Given the description of an element on the screen output the (x, y) to click on. 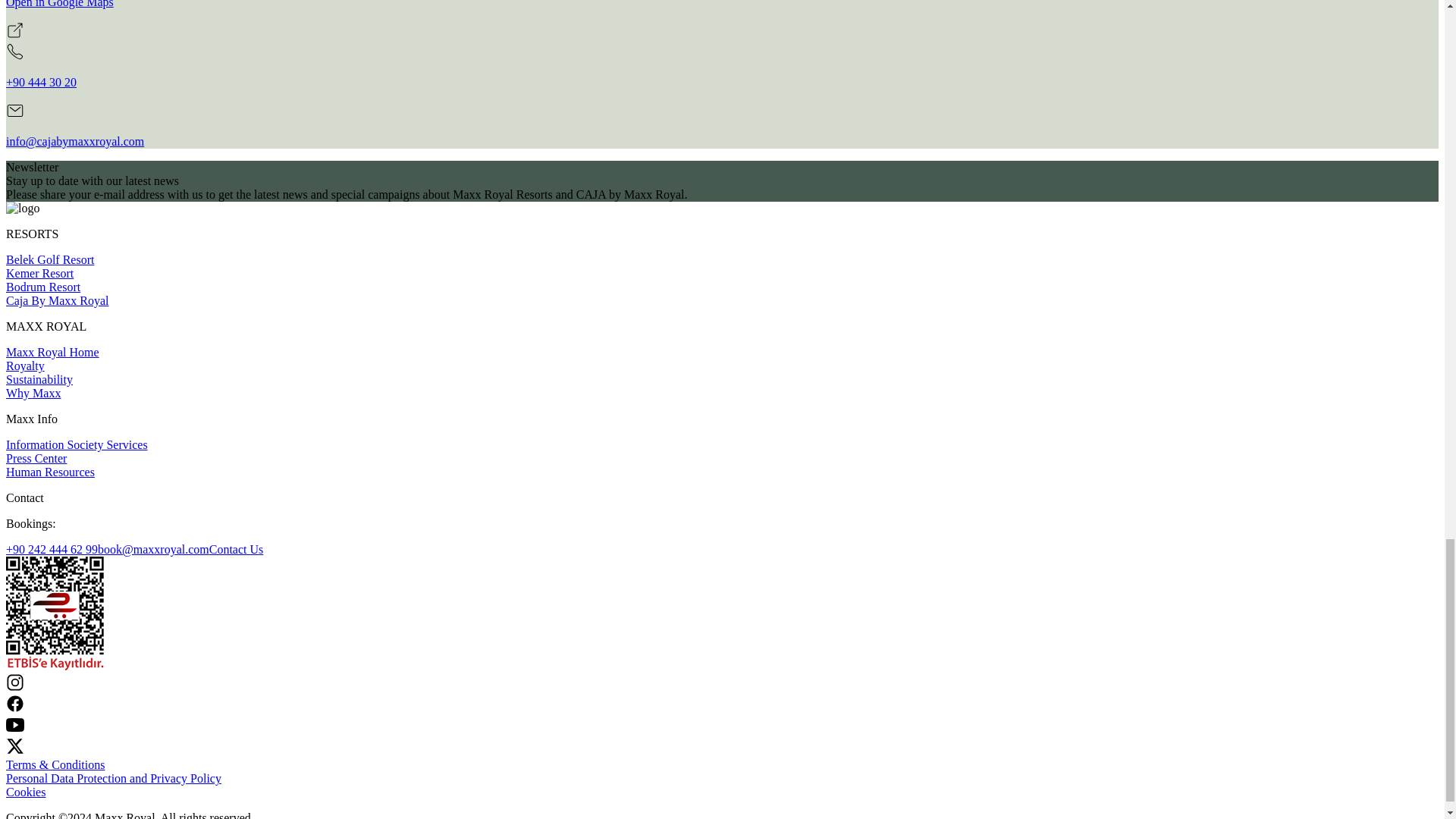
Belek Golf Resort (49, 259)
ETBIS QR code (54, 666)
